Given the description of an element on the screen output the (x, y) to click on. 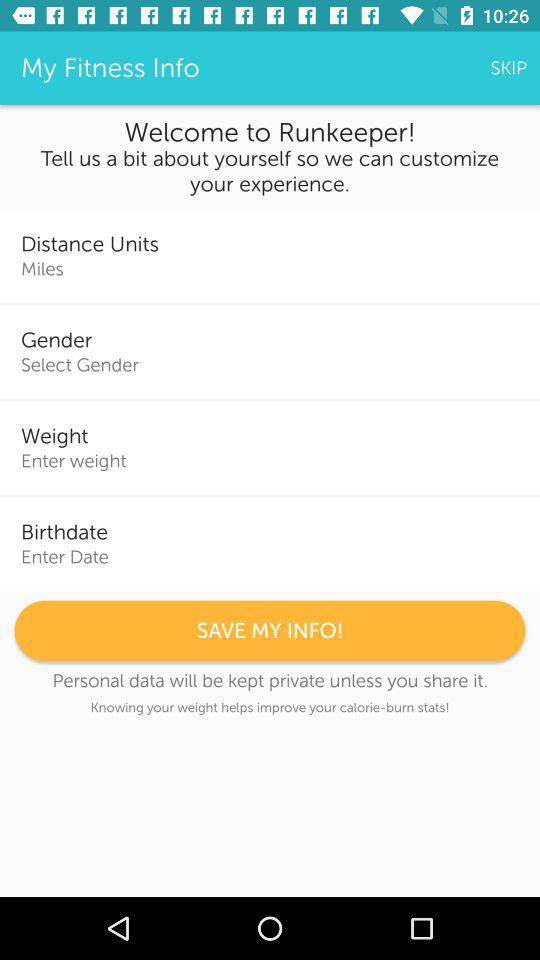
swipe to the skip icon (508, 67)
